Given the description of an element on the screen output the (x, y) to click on. 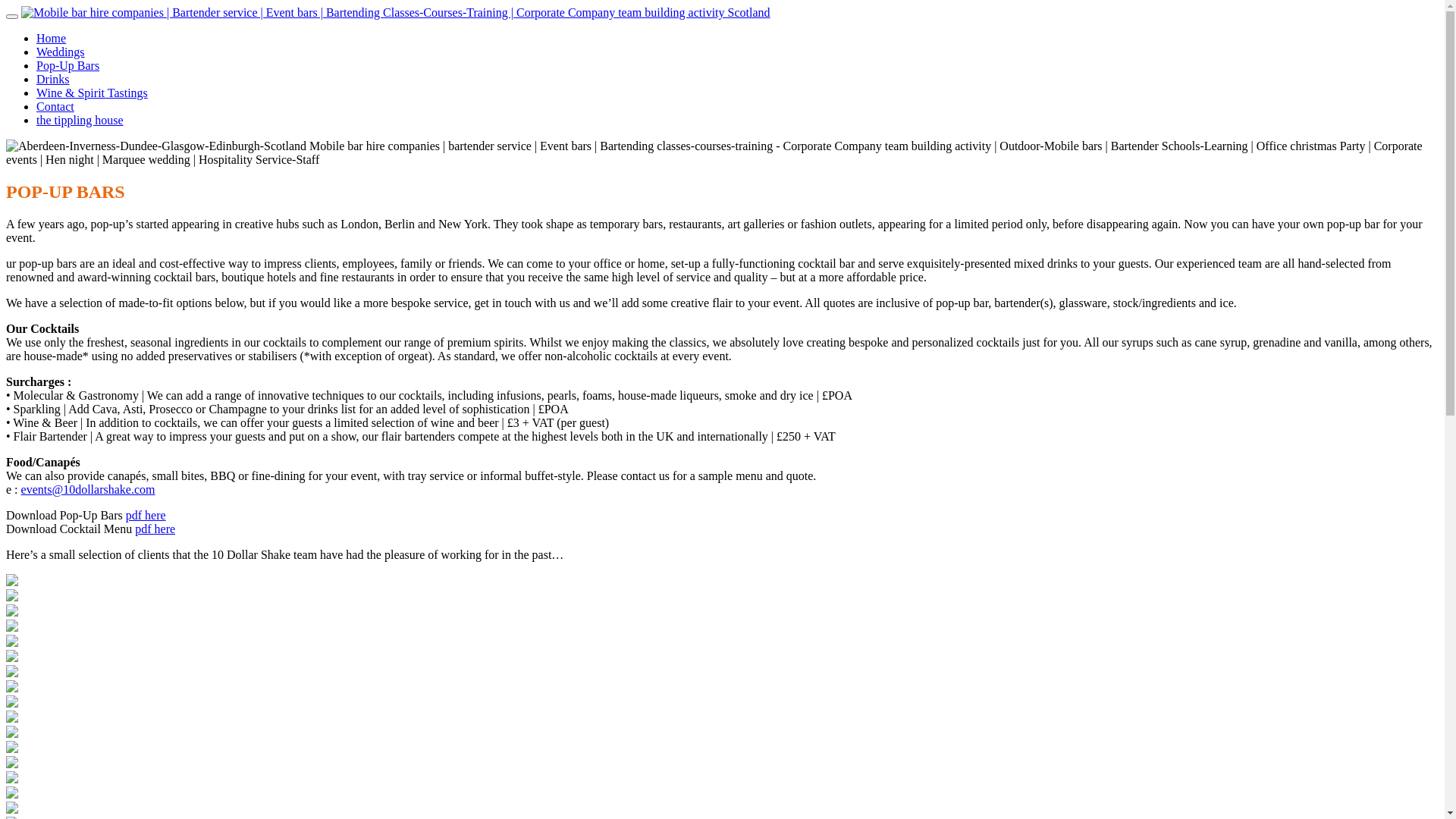
Wine & Spirit Tastings Element type: text (91, 92)
Drinks Element type: text (52, 78)
events@10dollarshake.com Element type: text (88, 489)
Pop-Up Bars Element type: text (67, 65)
the tippling house Element type: text (79, 119)
pdf here Element type: text (145, 514)
pdf here Element type: text (154, 528)
Home Element type: text (50, 37)
Weddings Element type: text (60, 51)
Contact Element type: text (55, 106)
